Given the description of an element on the screen output the (x, y) to click on. 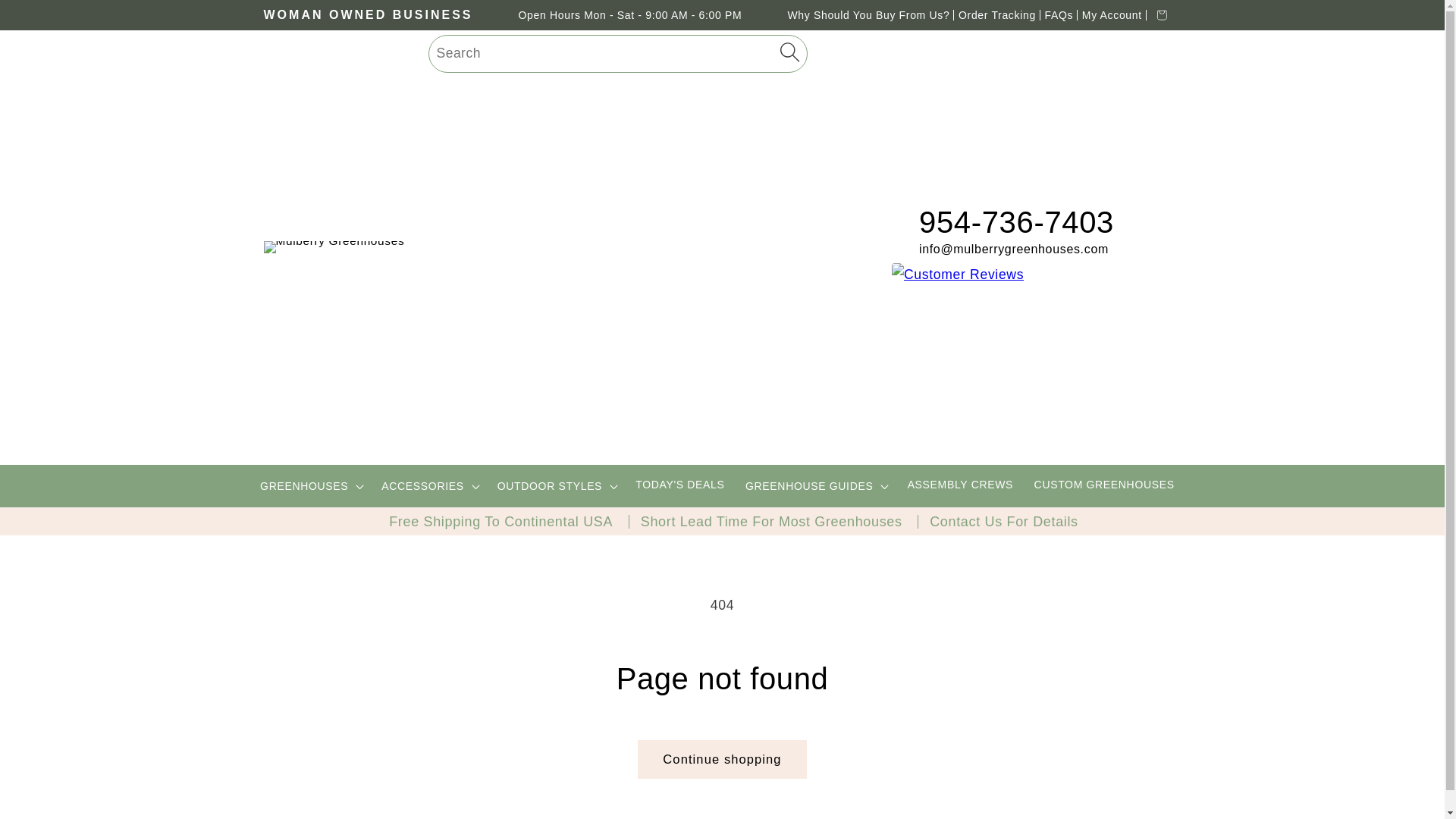
Cart (1161, 15)
Skip to content (50, 19)
My Account (1111, 15)
FAQs (1059, 15)
Order Tracking (996, 15)
Why Should You Buy From Us? (868, 15)
